Given the description of an element on the screen output the (x, y) to click on. 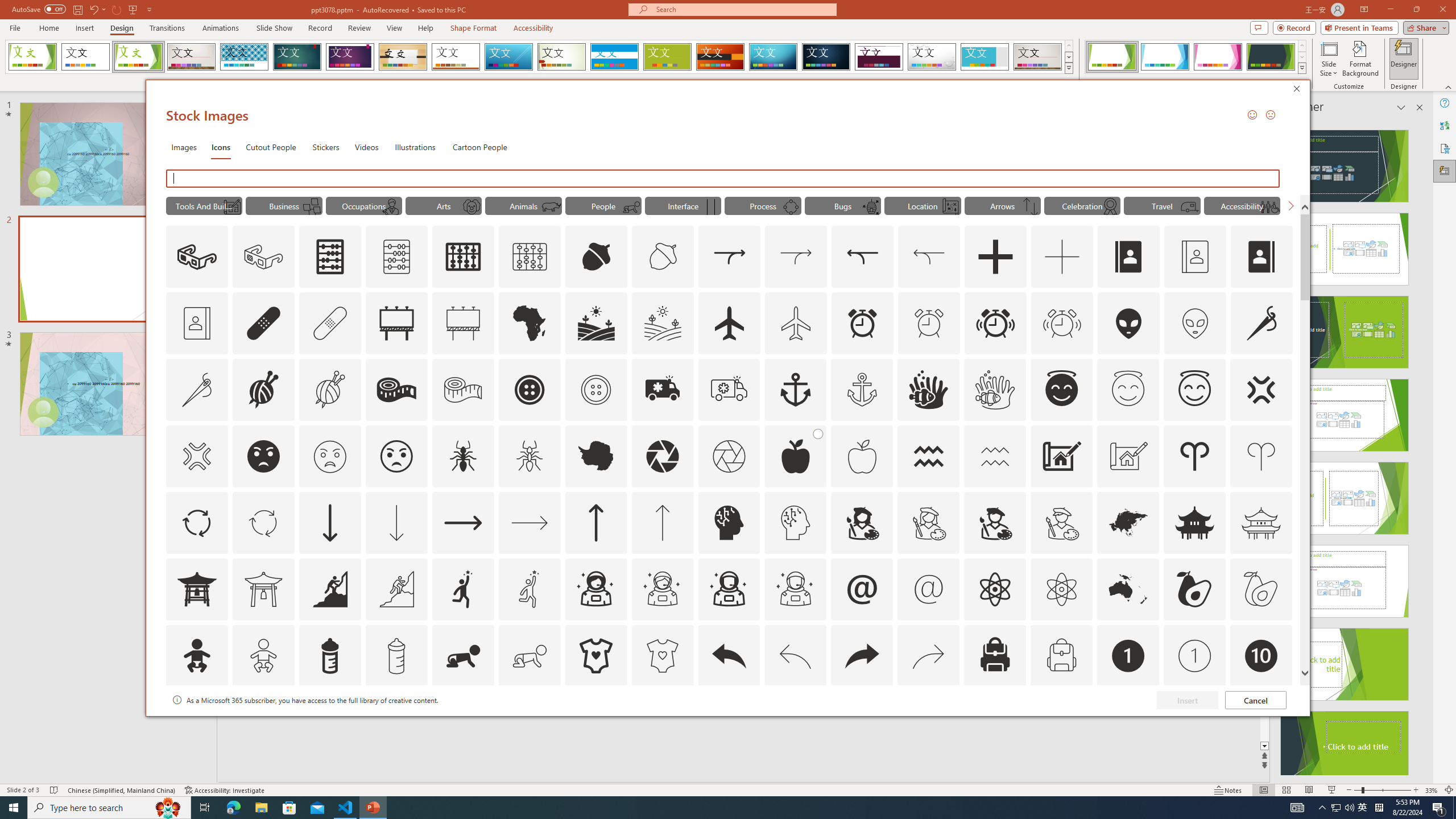
AutomationID: Icons_AnemoneAndClownfish (928, 389)
AutomationID: Icons_Badge4_M (595, 721)
AutomationID: Icons_Aspiration1_M (529, 588)
Circuit (772, 56)
AutomationID: Icons_Backpack (995, 655)
AutomationID: Icons_Architecture_M (1128, 455)
AutomationID: Icons_ArtificialIntelligence_M (795, 522)
Retrospect (455, 56)
AutomationID: Icons_AlterationsTailoring3 (529, 389)
